Given the description of an element on the screen output the (x, y) to click on. 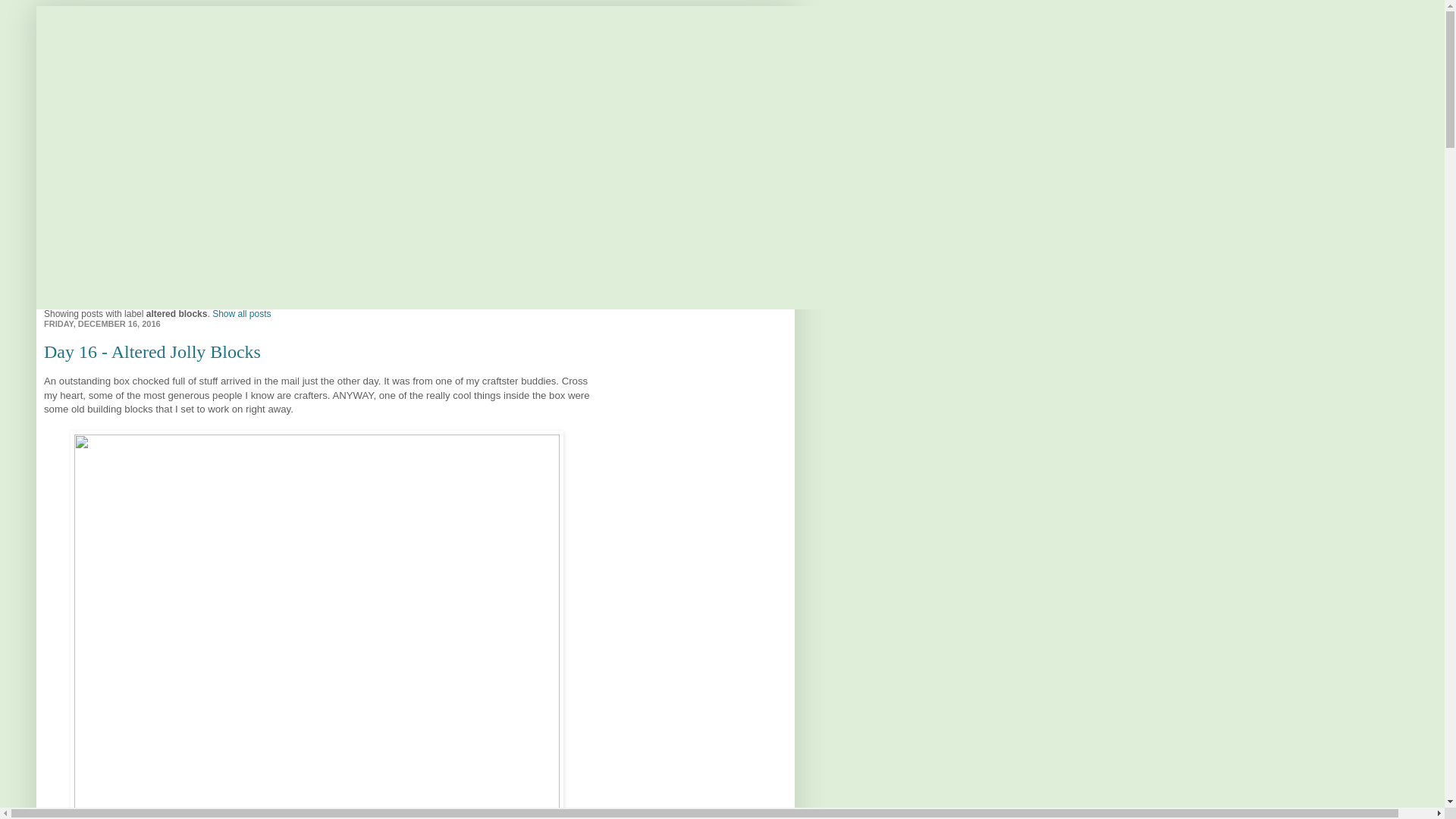
Day 16 - Altered Jolly Blocks (151, 351)
Show all posts (241, 303)
Show all posts (241, 313)
